Given the description of an element on the screen output the (x, y) to click on. 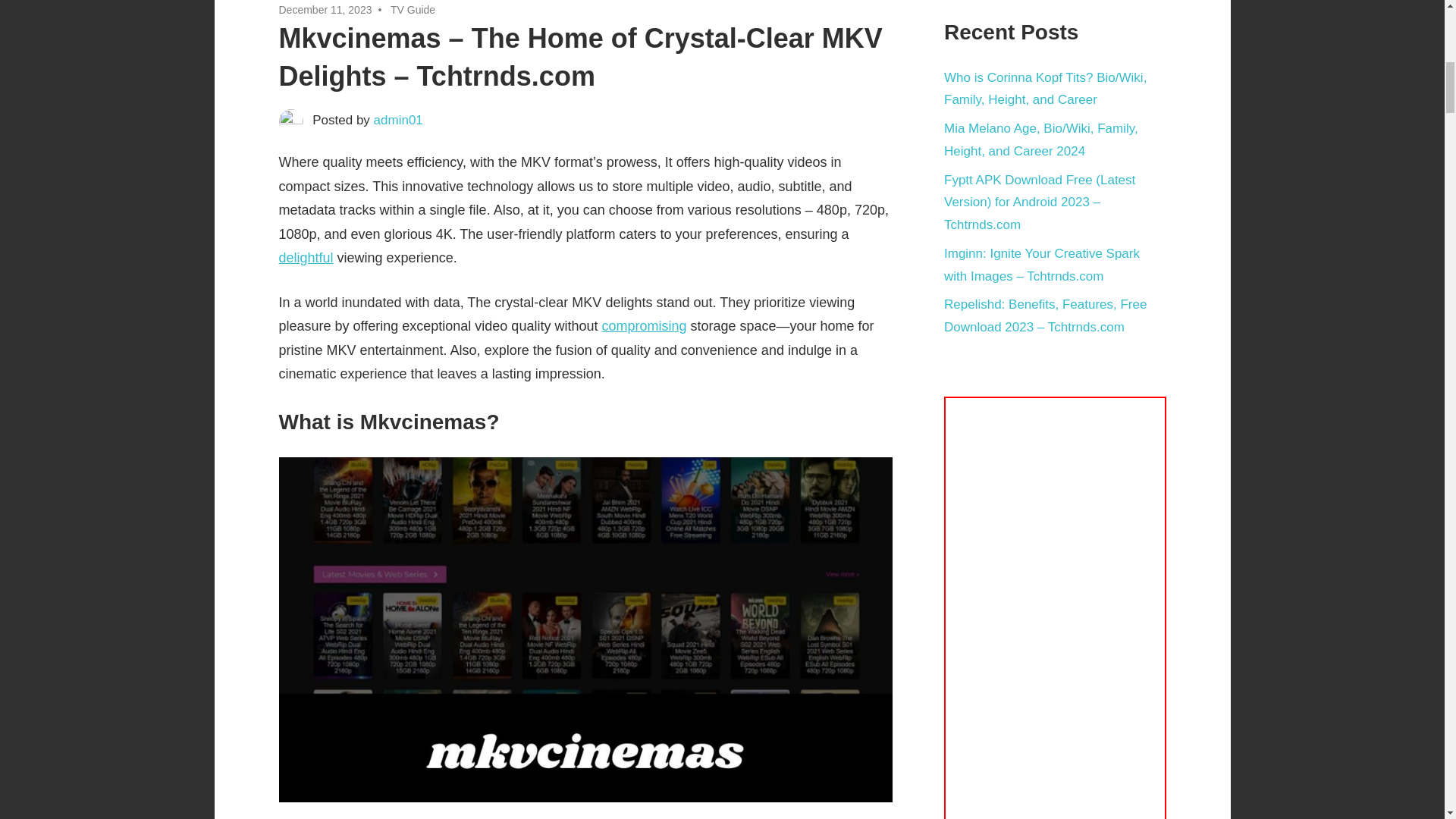
5:40 pm (325, 9)
View all posts by admin01 (398, 120)
December 11, 2023 (325, 9)
TV Guide (412, 9)
delightful (306, 257)
admin01 (398, 120)
compromising (643, 325)
